Given the description of an element on the screen output the (x, y) to click on. 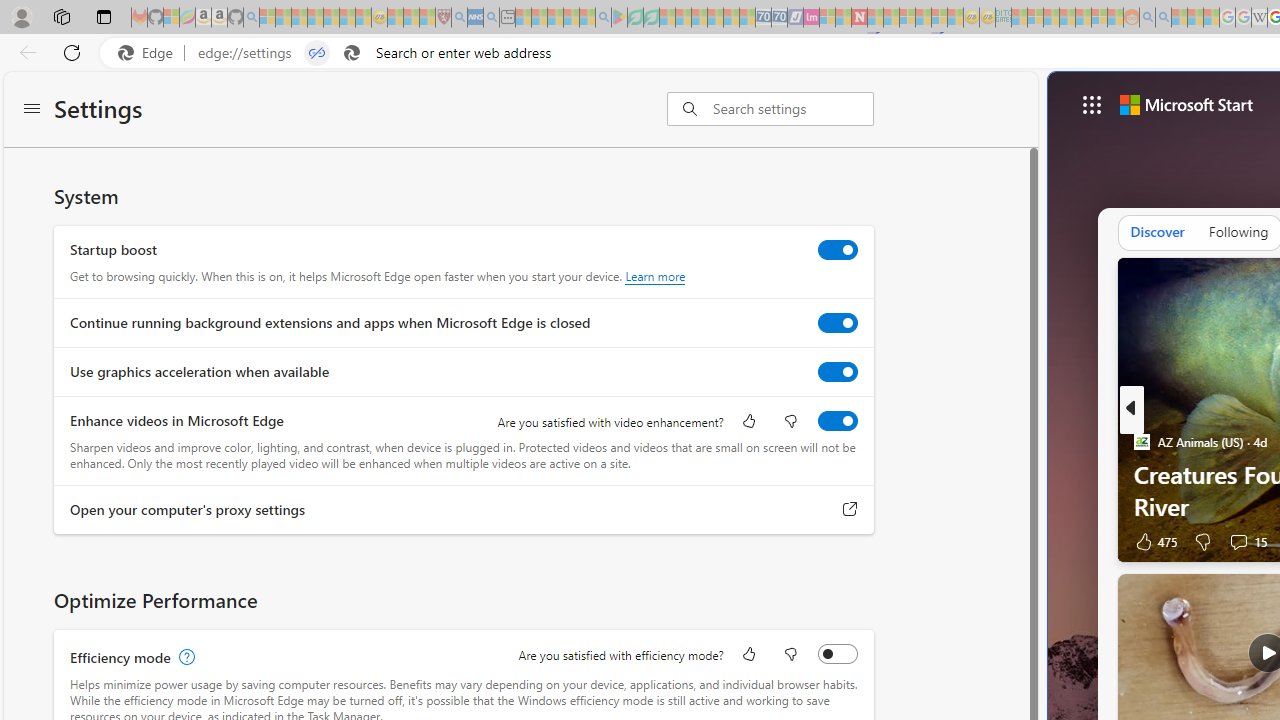
Bluey: Let's Play! - Apps on Google Play - Sleeping (619, 17)
google - Search - Sleeping (603, 17)
Expert Portfolios - Sleeping (1067, 17)
Learn more (655, 276)
Efficiency mode (837, 653)
